Given the description of an element on the screen output the (x, y) to click on. 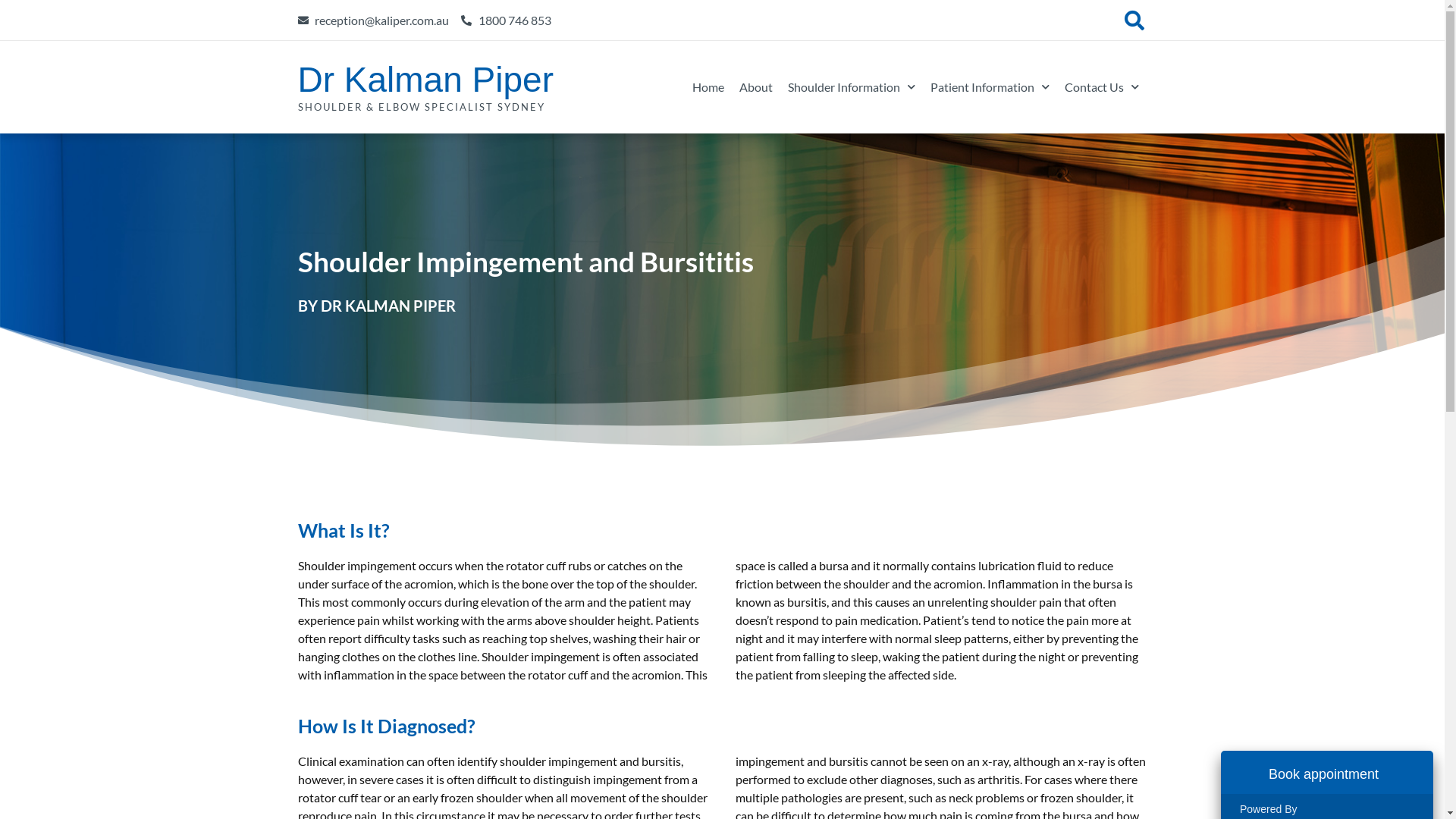
About Element type: text (755, 86)
Shoulder Information Element type: text (851, 86)
1800 746 853 Element type: text (506, 19)
reception@kaliper.com.au Element type: text (372, 19)
Patient Information Element type: text (989, 86)
Home Element type: text (707, 86)
Contact Us Element type: text (1101, 86)
Dr Kalman Piper Element type: text (424, 79)
